Given the description of an element on the screen output the (x, y) to click on. 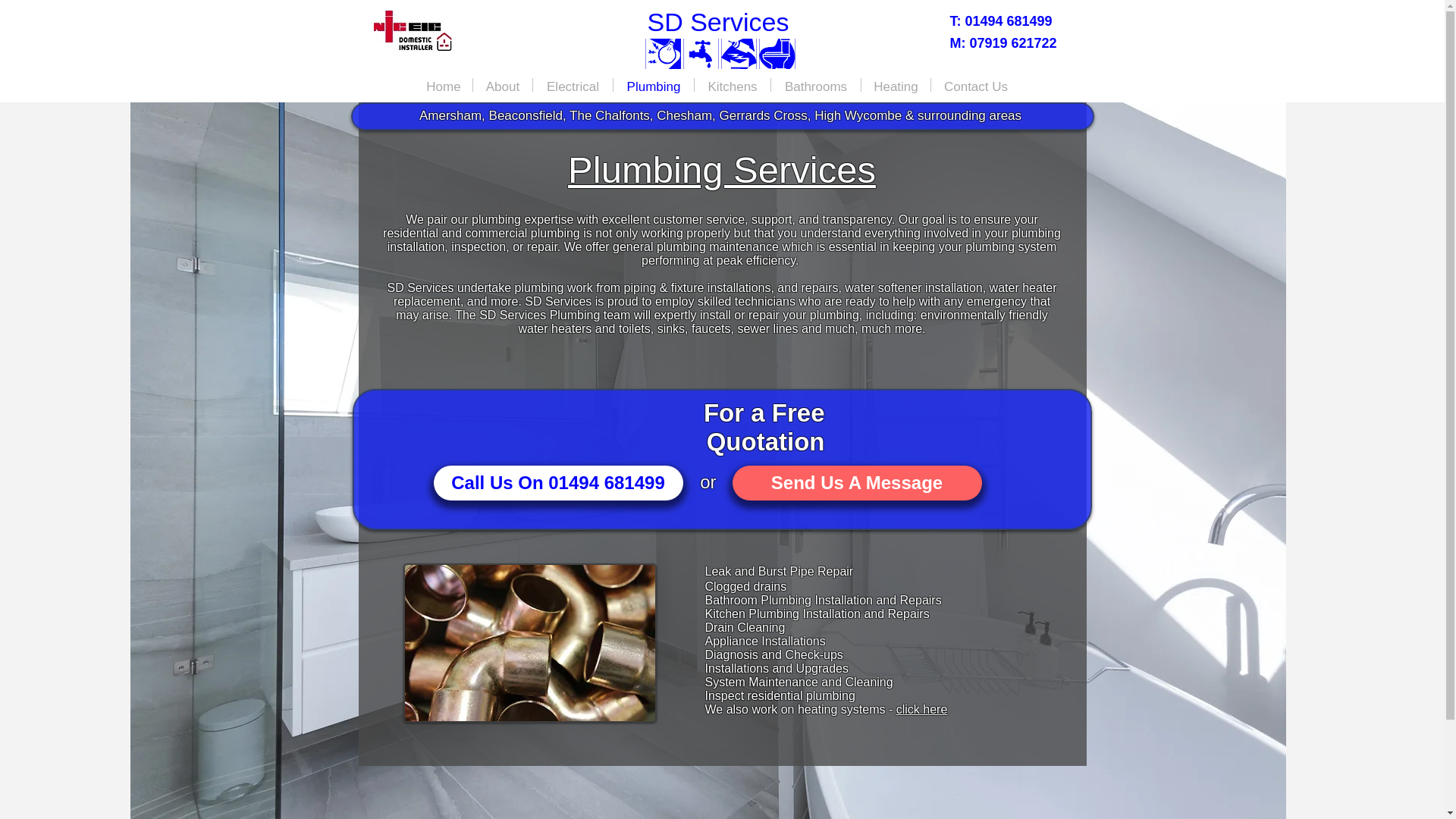
Send Us A Message (856, 483)
Bathrooms (815, 84)
Contact Us (975, 84)
About (502, 84)
Call Us On 01494 681499 (557, 483)
Plumbing (653, 84)
Heating (895, 84)
SD Services (717, 21)
Home (442, 84)
Kitchens (732, 84)
Electrical (572, 84)
click here (921, 708)
